Given the description of an element on the screen output the (x, y) to click on. 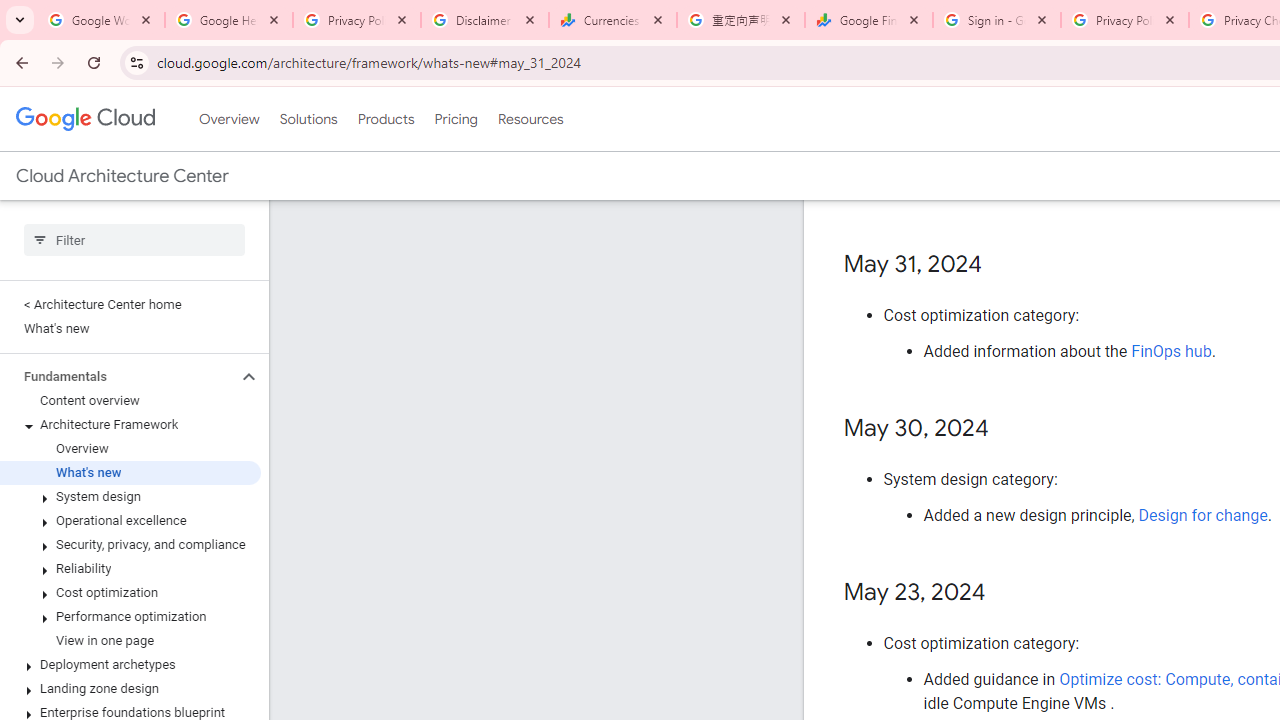
Cost optimization (130, 592)
